Given the description of an element on the screen output the (x, y) to click on. 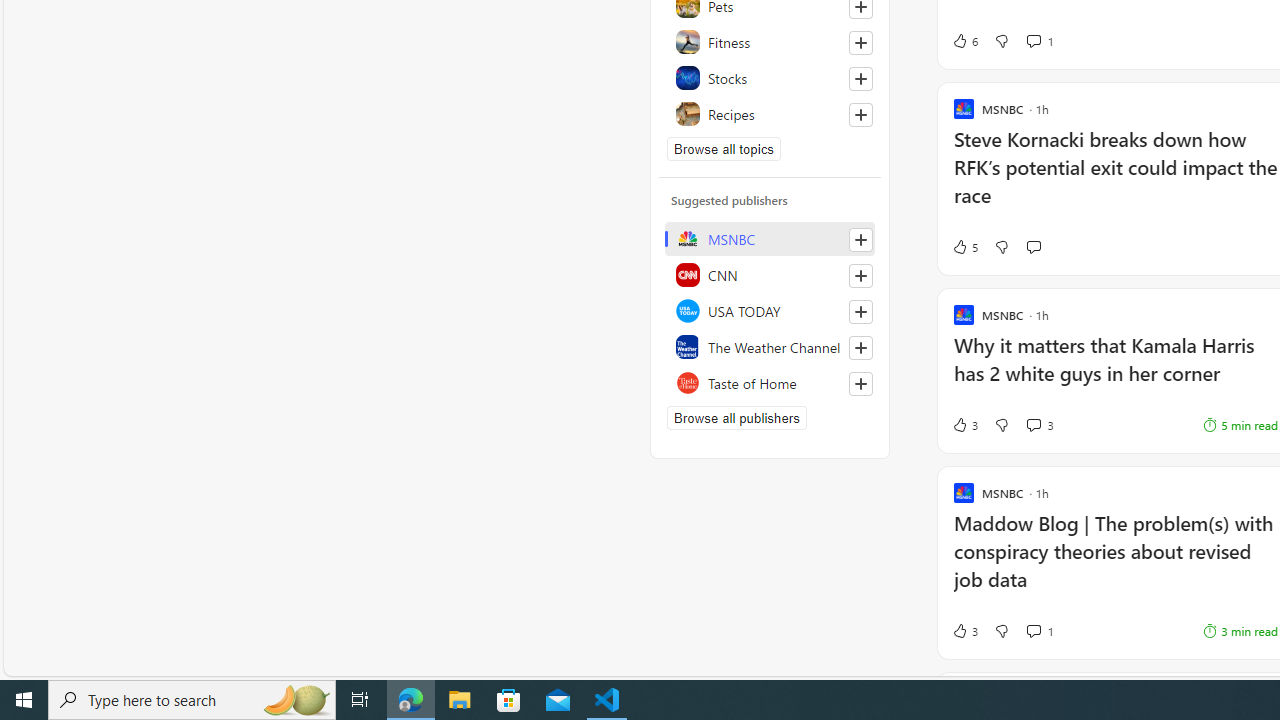
MSNBC (770, 238)
3 Like (964, 630)
6 Like (964, 40)
Recipes (770, 114)
Browse all publishers (736, 417)
